Given the description of an element on the screen output the (x, y) to click on. 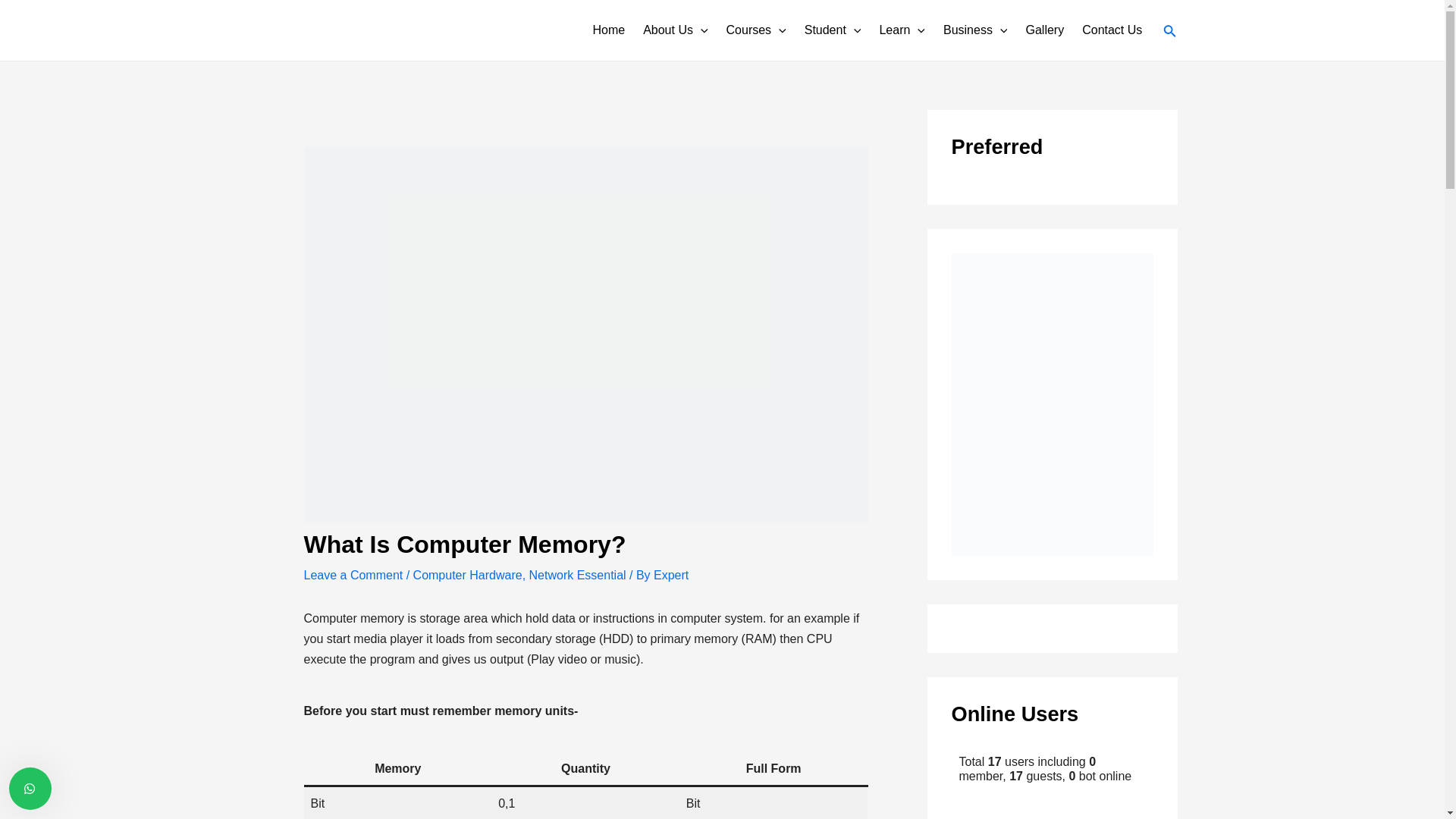
Courses (753, 30)
About Us (671, 30)
Learn (898, 30)
Home (604, 30)
View all posts by Expert (670, 574)
Student (829, 30)
